Given the description of an element on the screen output the (x, y) to click on. 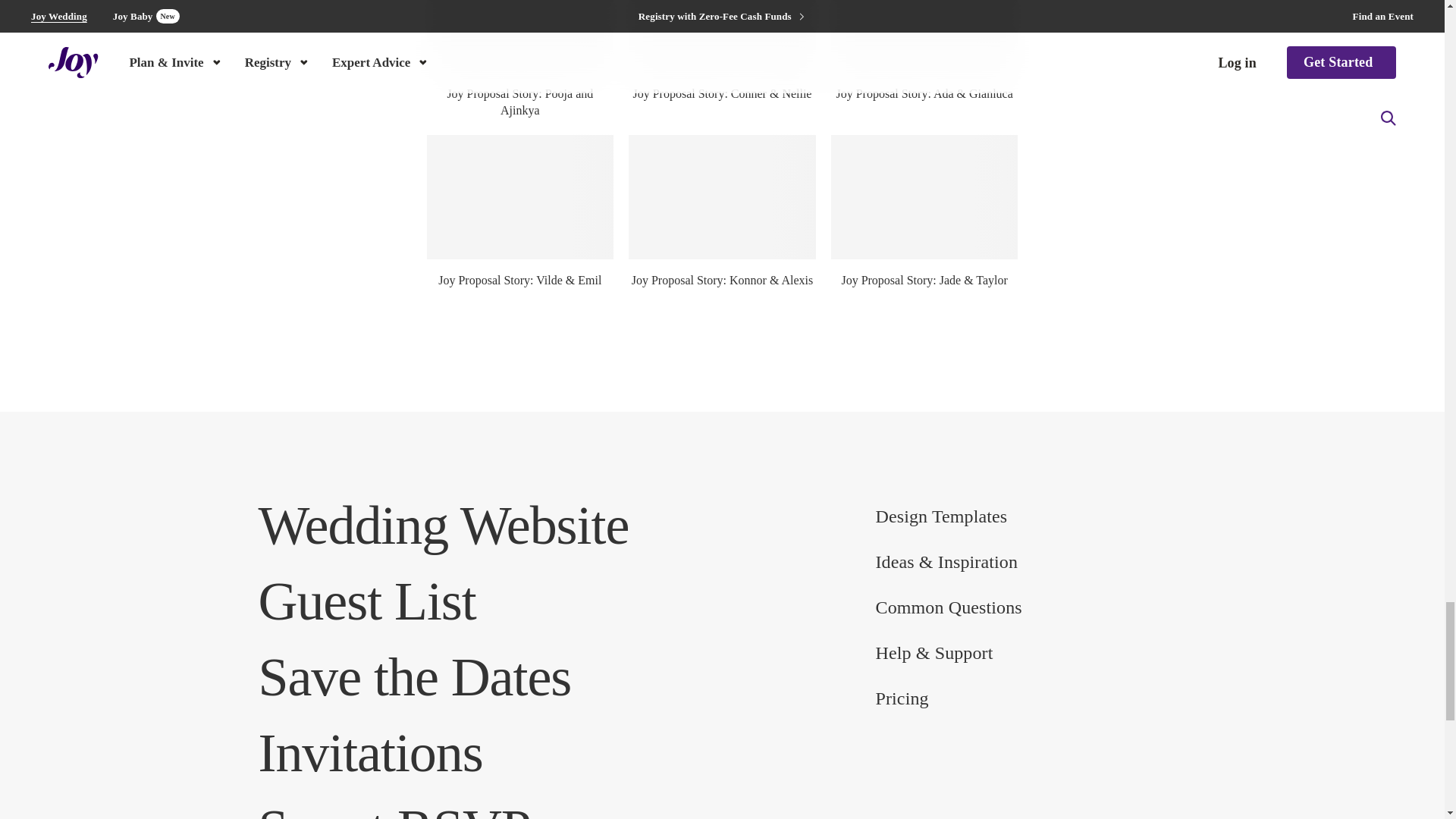
Joy Proposal Story: Pooja and Ajinkya (519, 36)
